Given the description of an element on the screen output the (x, y) to click on. 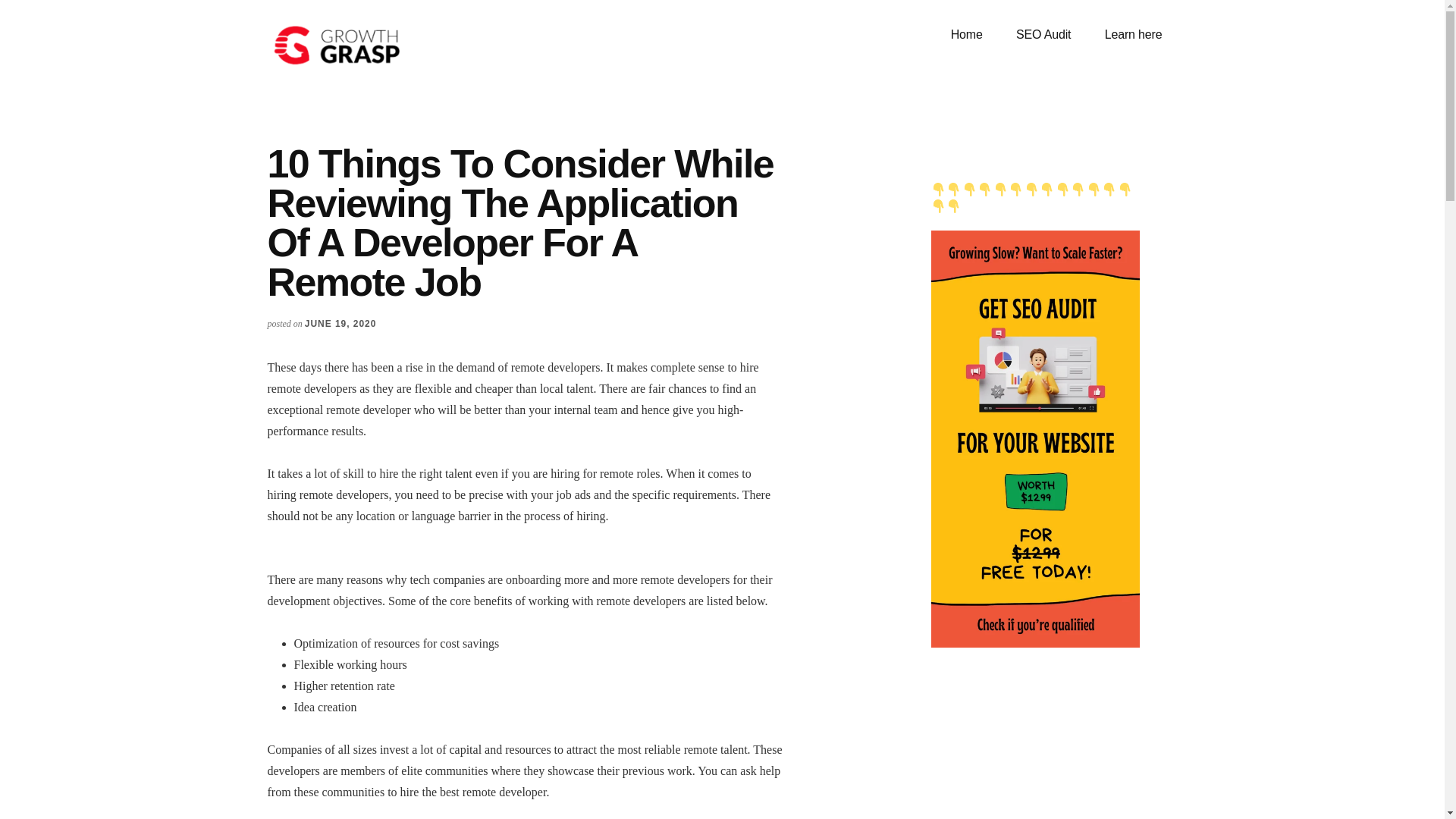
Home (966, 34)
Learn here (1133, 34)
SEO Audit (1043, 34)
Growth Grasp (380, 45)
